Given the description of an element on the screen output the (x, y) to click on. 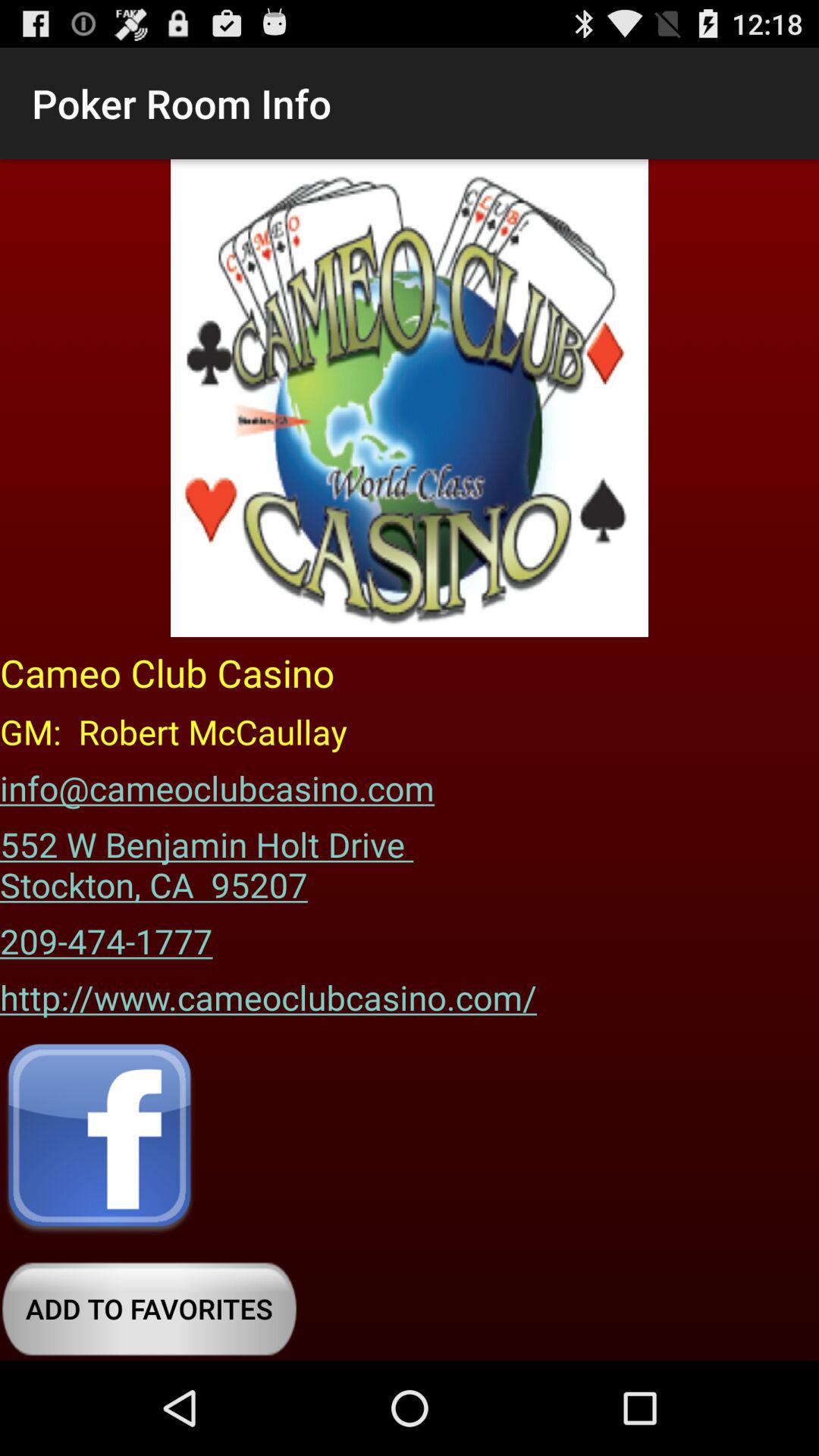
select add to favorites icon (149, 1308)
